Given the description of an element on the screen output the (x, y) to click on. 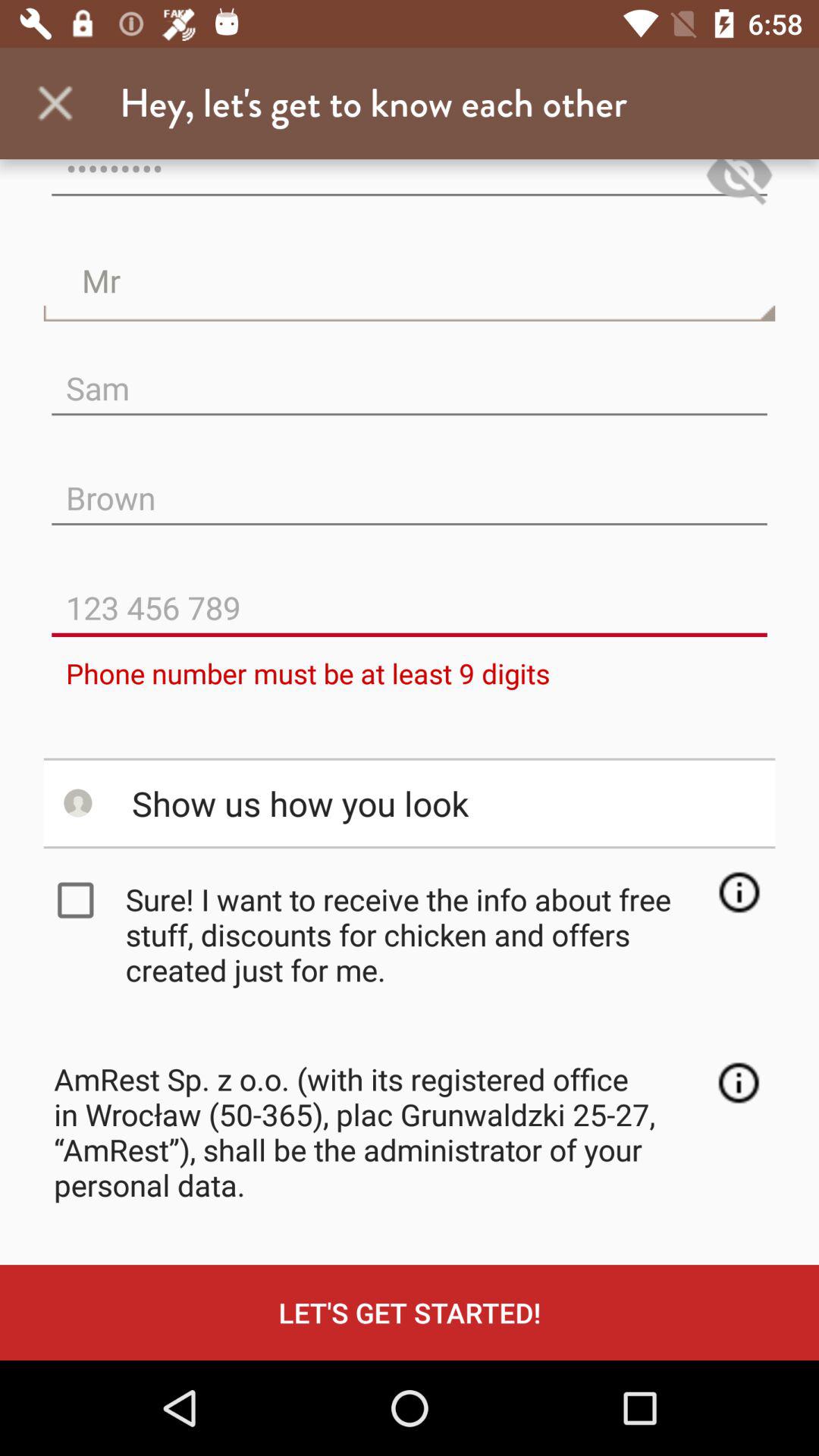
more info (738, 892)
